Given the description of an element on the screen output the (x, y) to click on. 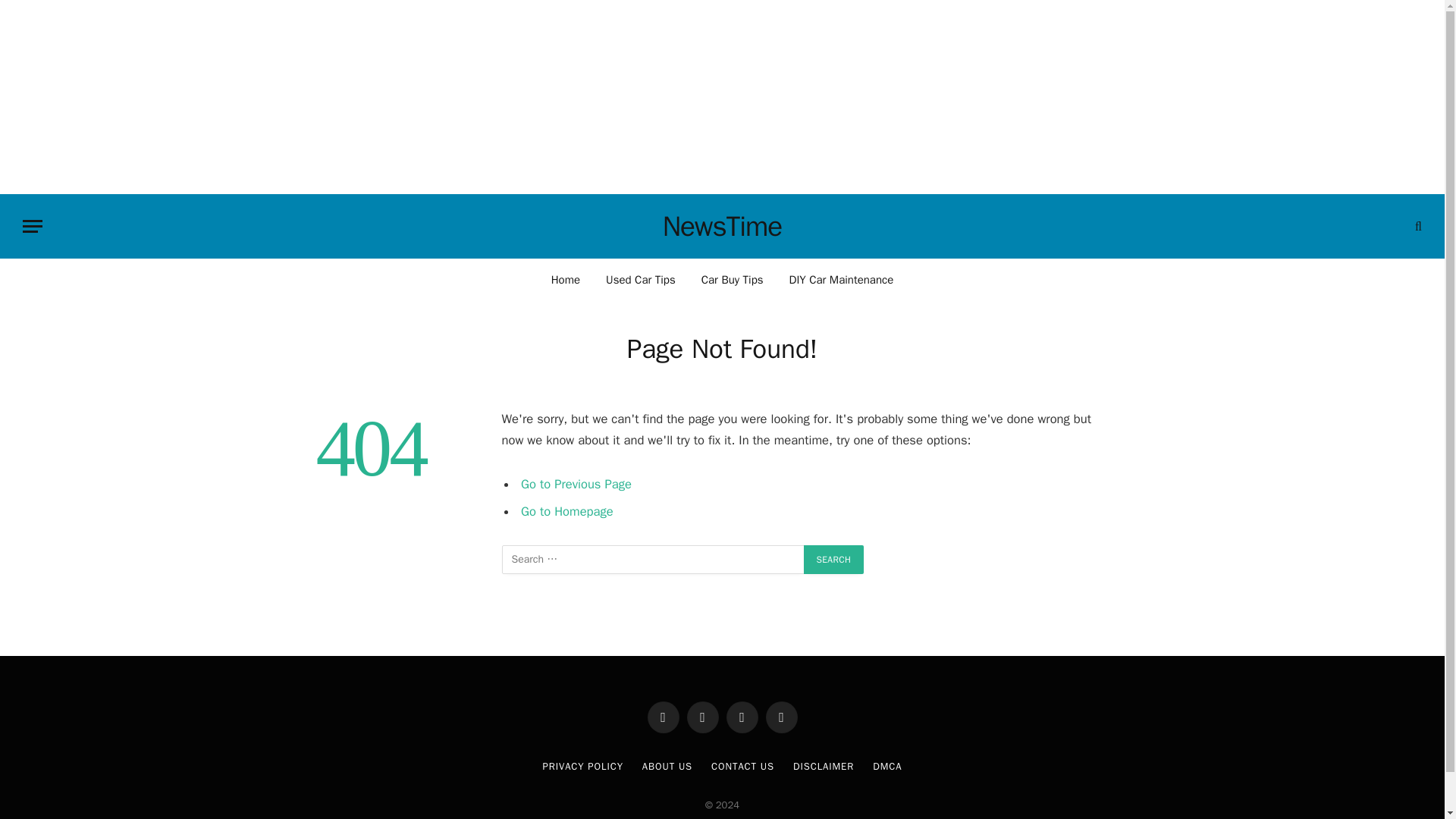
DMCA (886, 766)
Advertisement (721, 94)
Used Car Tips (640, 279)
Pinterest (781, 717)
DISCLAIMER (823, 766)
Car Buy Tips (732, 279)
Instagram (742, 717)
Search (833, 559)
NewsTime (722, 226)
PRIVACY POLICY (583, 766)
Twitter (703, 717)
Home (565, 279)
CONTACT US (742, 766)
Facebook (663, 717)
Search (833, 559)
